Given the description of an element on the screen output the (x, y) to click on. 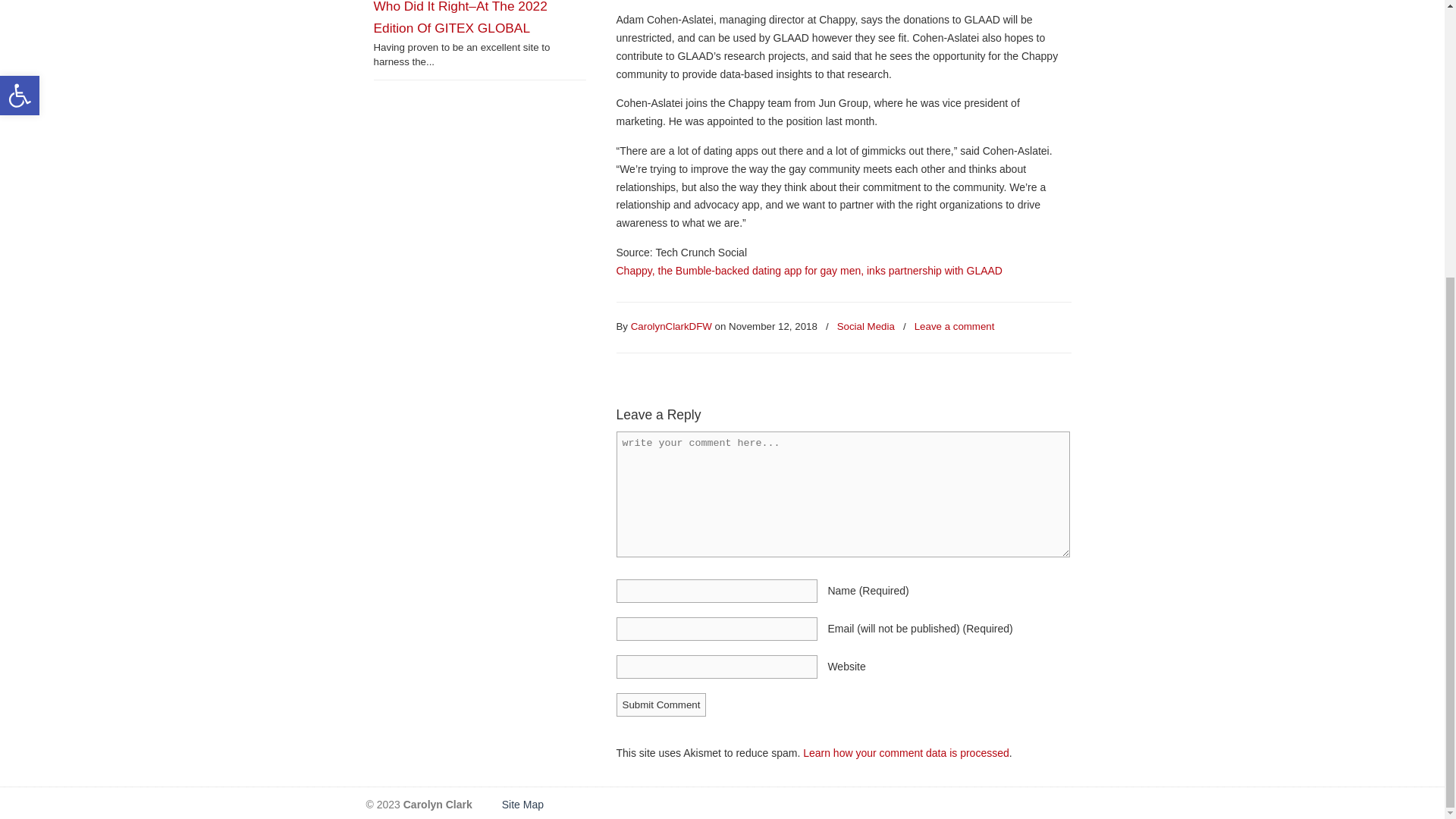
Posts by CarolynClarkDFW (670, 326)
Social Media (866, 326)
CarolynClarkDFW (670, 326)
Submit Comment (660, 704)
Leave a comment (954, 326)
Learn how your comment data is processed (906, 752)
Site Map (521, 804)
Submit Comment (660, 704)
